Given the description of an element on the screen output the (x, y) to click on. 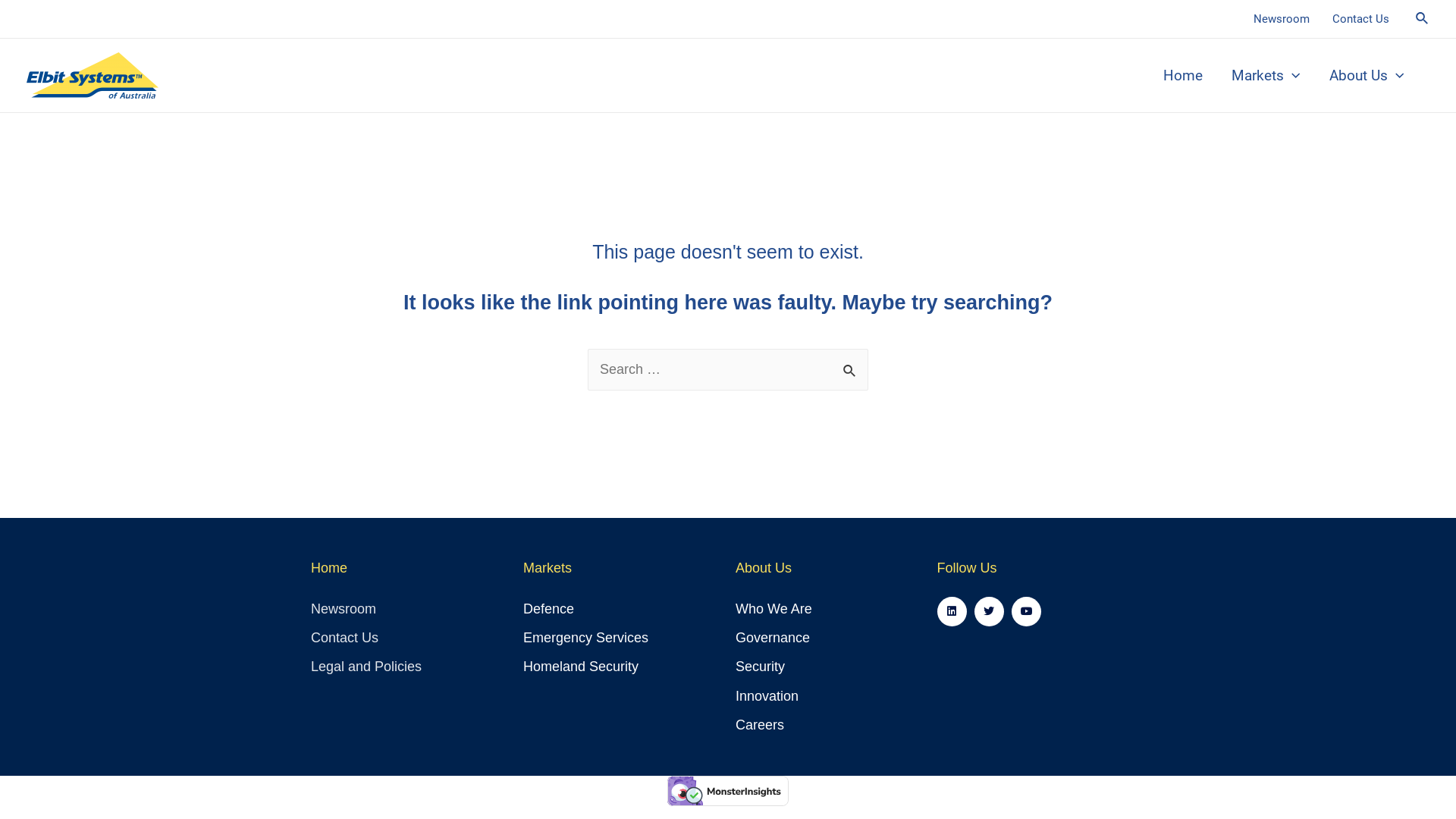
Homeland Security Element type: text (621, 666)
Security Element type: text (800, 666)
Contact Us Element type: text (409, 637)
Verified by MonsterInsights Element type: hover (727, 790)
About Us Element type: text (1366, 74)
Innovation Element type: text (800, 696)
Defence Element type: text (621, 608)
Legal and Policies Element type: text (409, 666)
Markets Element type: text (1265, 74)
Contact Us Element type: text (1360, 18)
Governance Element type: text (800, 637)
Newsroom Element type: text (1281, 18)
Who We Are Element type: text (800, 608)
Careers Element type: text (800, 724)
Search Element type: text (851, 365)
Emergency Services Element type: text (621, 637)
Newsroom Element type: text (409, 608)
Home Element type: text (1182, 74)
